Given the description of an element on the screen output the (x, y) to click on. 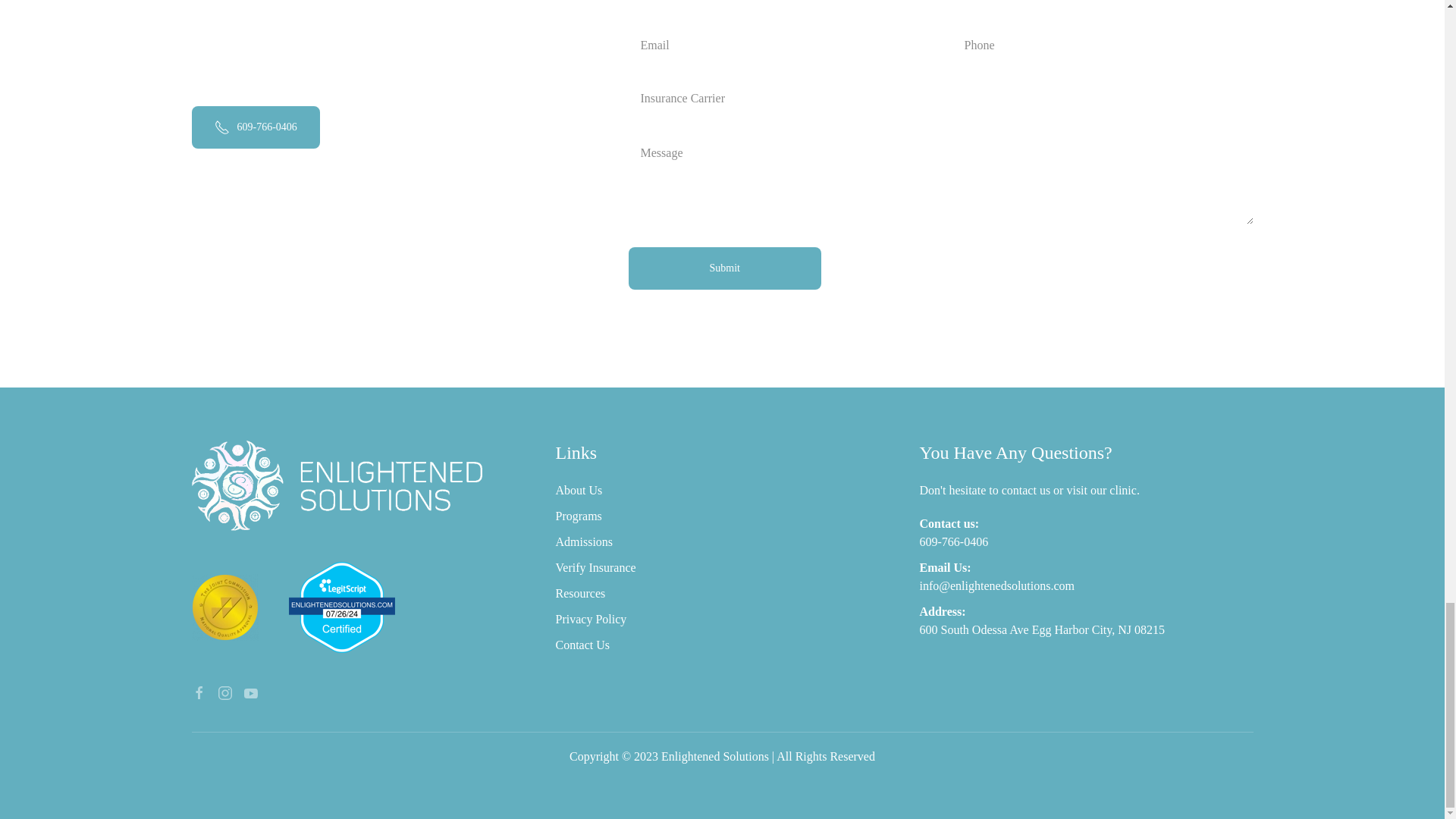
Submit (724, 268)
Verify LegitScript Approval (341, 605)
